Given the description of an element on the screen output the (x, y) to click on. 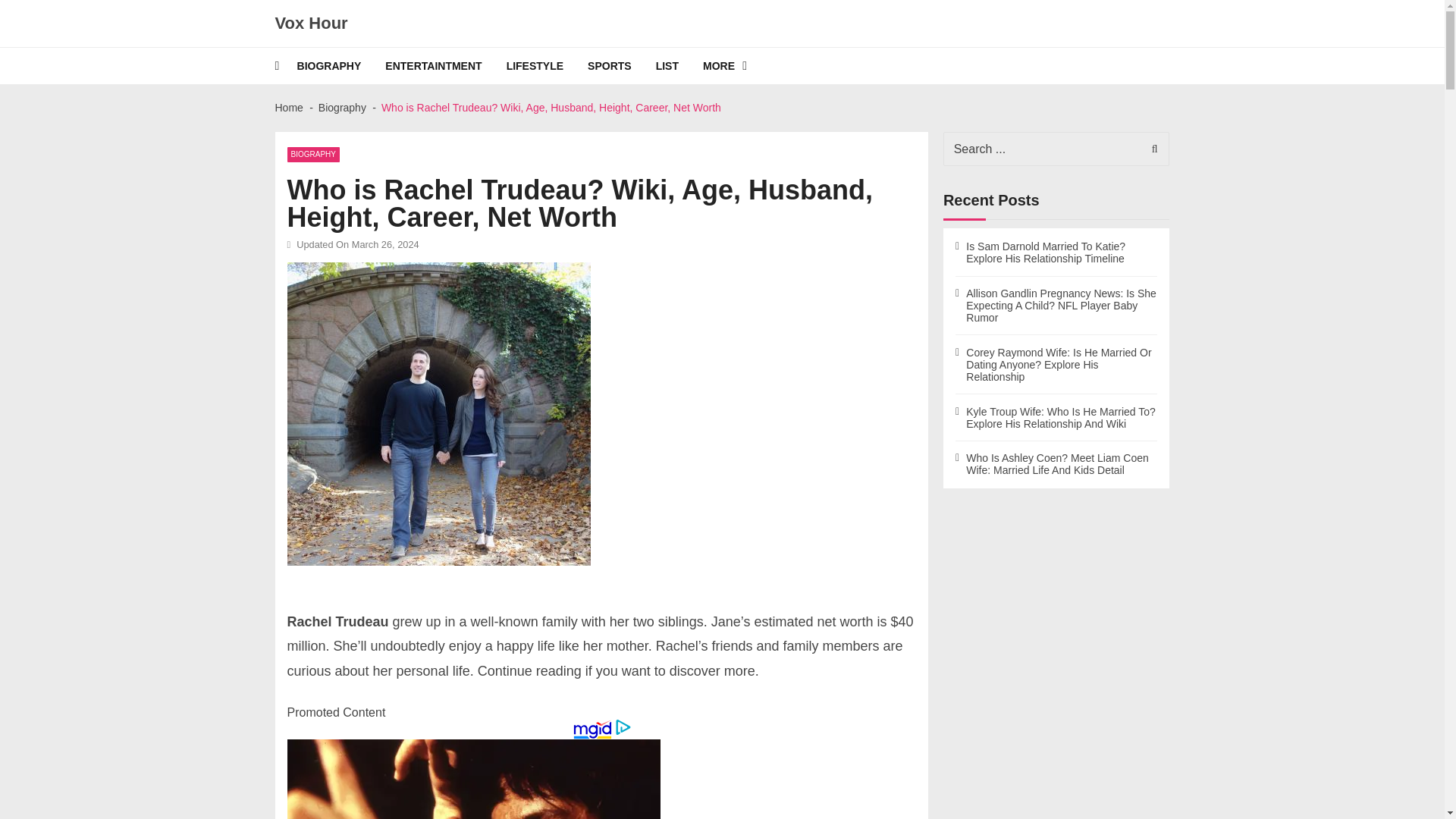
Home (288, 107)
Search (1150, 148)
ENTERTAINTMENT (445, 65)
Vox Hour (311, 23)
BIOGRAPHY (312, 154)
SPORTS (622, 65)
Search (1150, 148)
LIST (679, 65)
Biography (342, 107)
MORE (737, 65)
BIOGRAPHY (341, 65)
LIFESTYLE (547, 65)
